Given the description of an element on the screen output the (x, y) to click on. 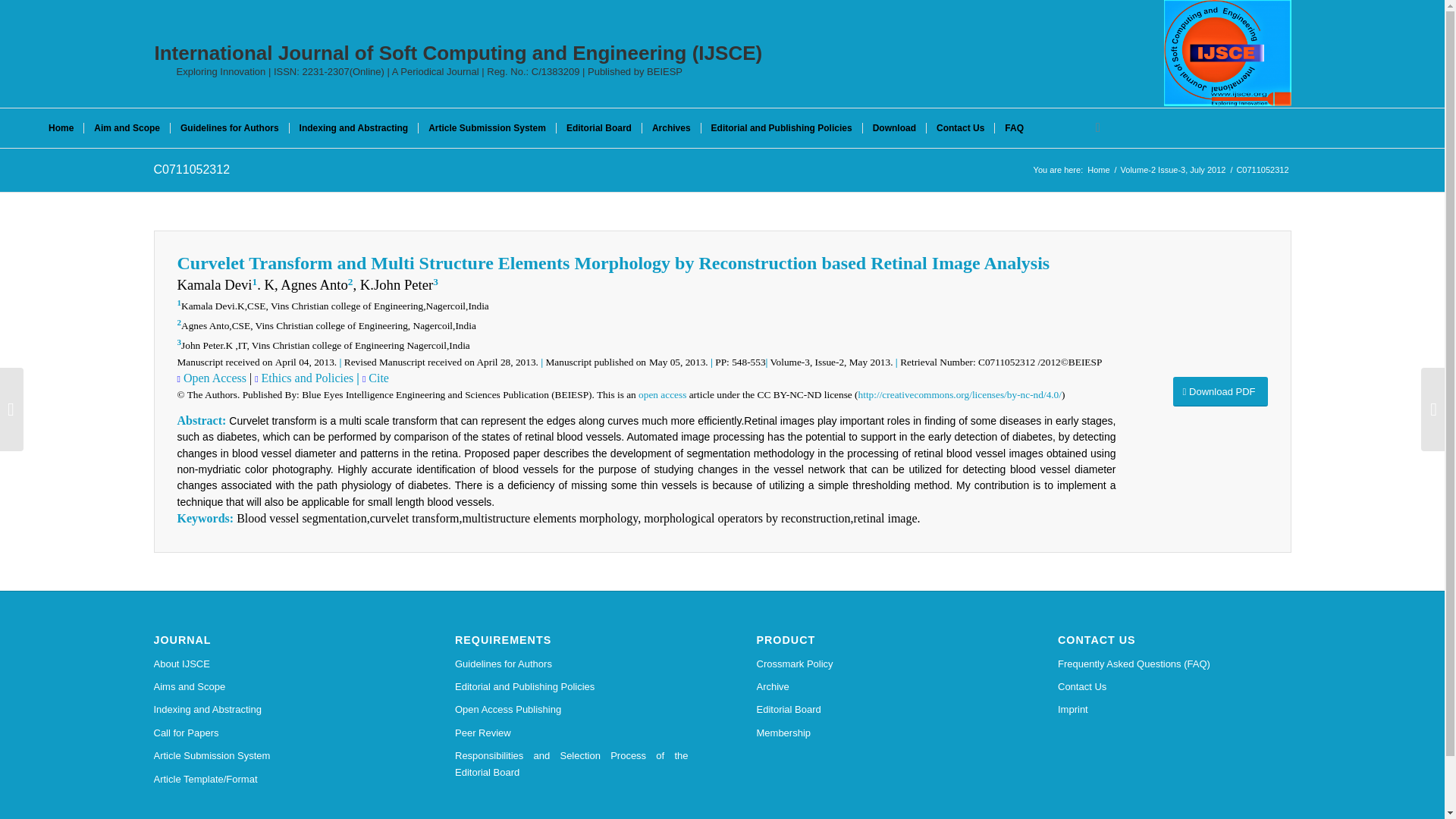
Aims and Scope (269, 686)
Guidelines for Authors (571, 663)
Aim and Scope (126, 127)
Open Access Publishing (571, 709)
Crossmark Policy (873, 663)
About IJSCE (269, 663)
Indexing and Abstracting (353, 127)
Editorial Board (873, 709)
Open Access (213, 377)
Volume-2 Issue-3, July 2012 (1173, 170)
